Given the description of an element on the screen output the (x, y) to click on. 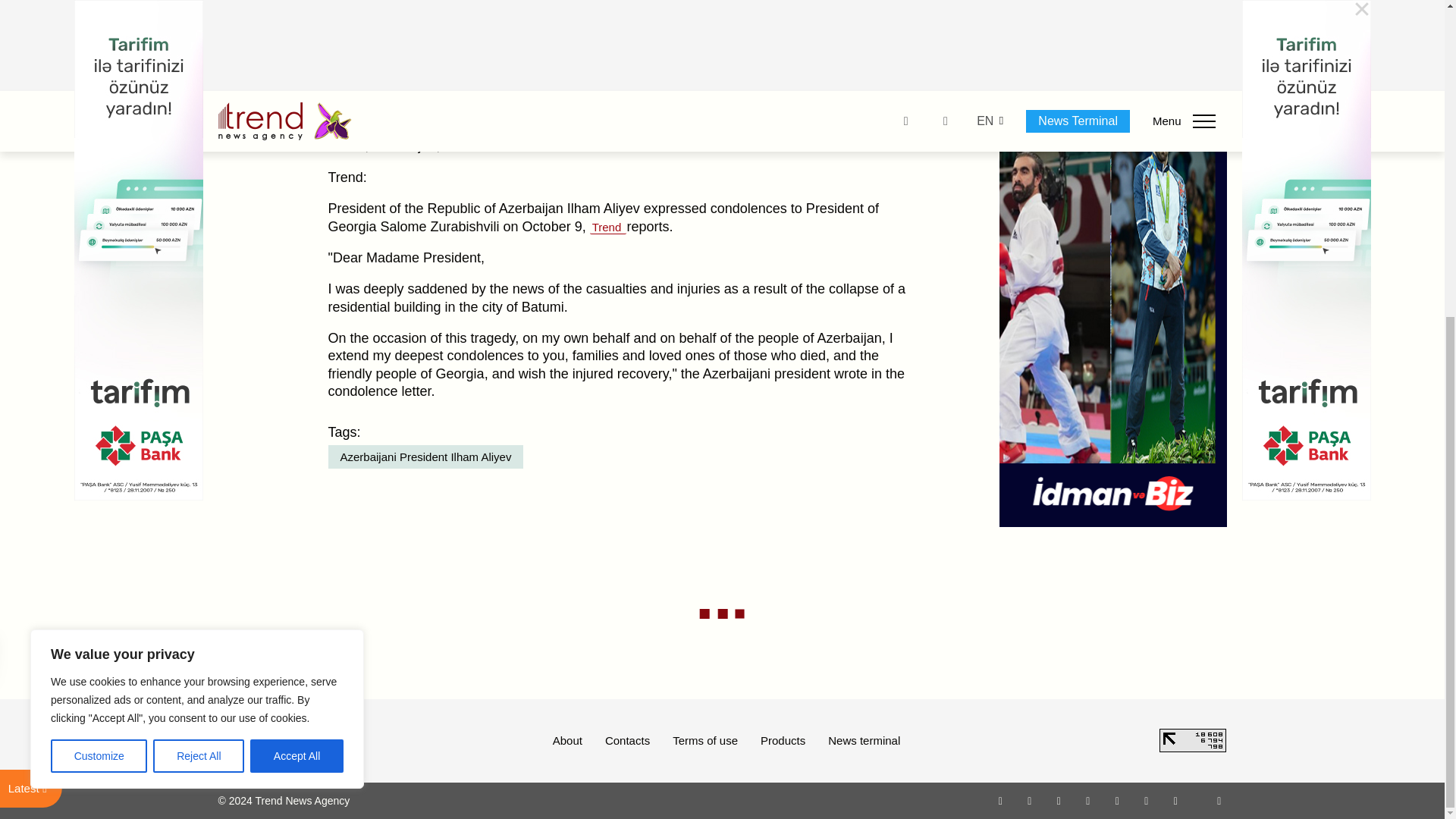
Twitter (1059, 800)
Youtube (1088, 800)
Accept All (296, 244)
LinkedIn (1146, 800)
Whatsapp (1000, 800)
3rd party ad content (1112, 59)
Facebook (1029, 800)
Reject All (198, 244)
Android App (1176, 800)
Telegram (1117, 800)
Customize (98, 244)
RSS Feed (1219, 800)
